Given the description of an element on the screen output the (x, y) to click on. 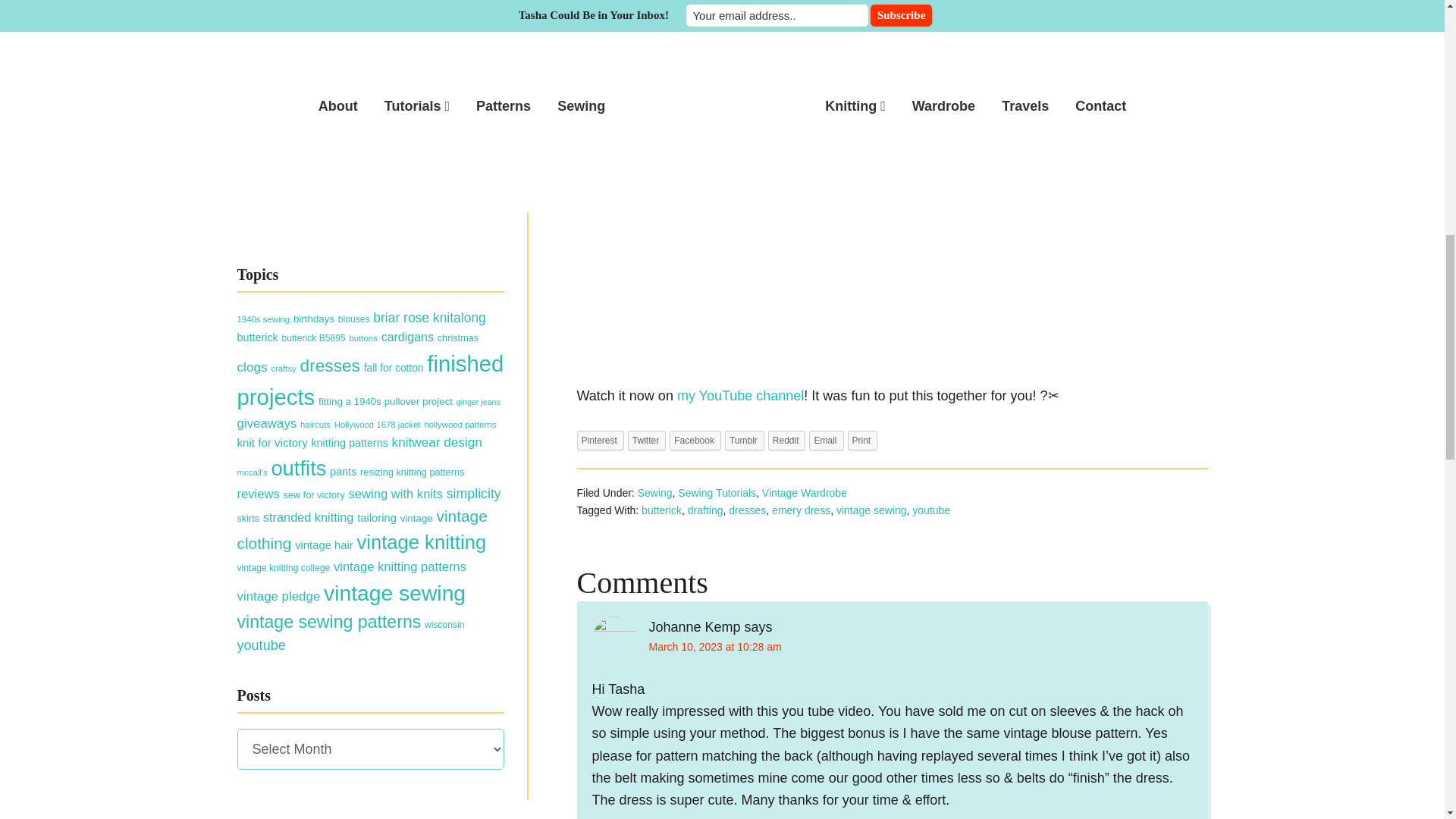
Vintage Wardrobe (804, 492)
Tumblr (744, 440)
Click to share on Twitter (646, 440)
Print (862, 440)
Pinterest (599, 440)
Click to share on Pinterest (599, 440)
Facebook (694, 440)
Click to share on Tumblr (744, 440)
Sewing (654, 492)
butterick (661, 510)
